Given the description of an element on the screen output the (x, y) to click on. 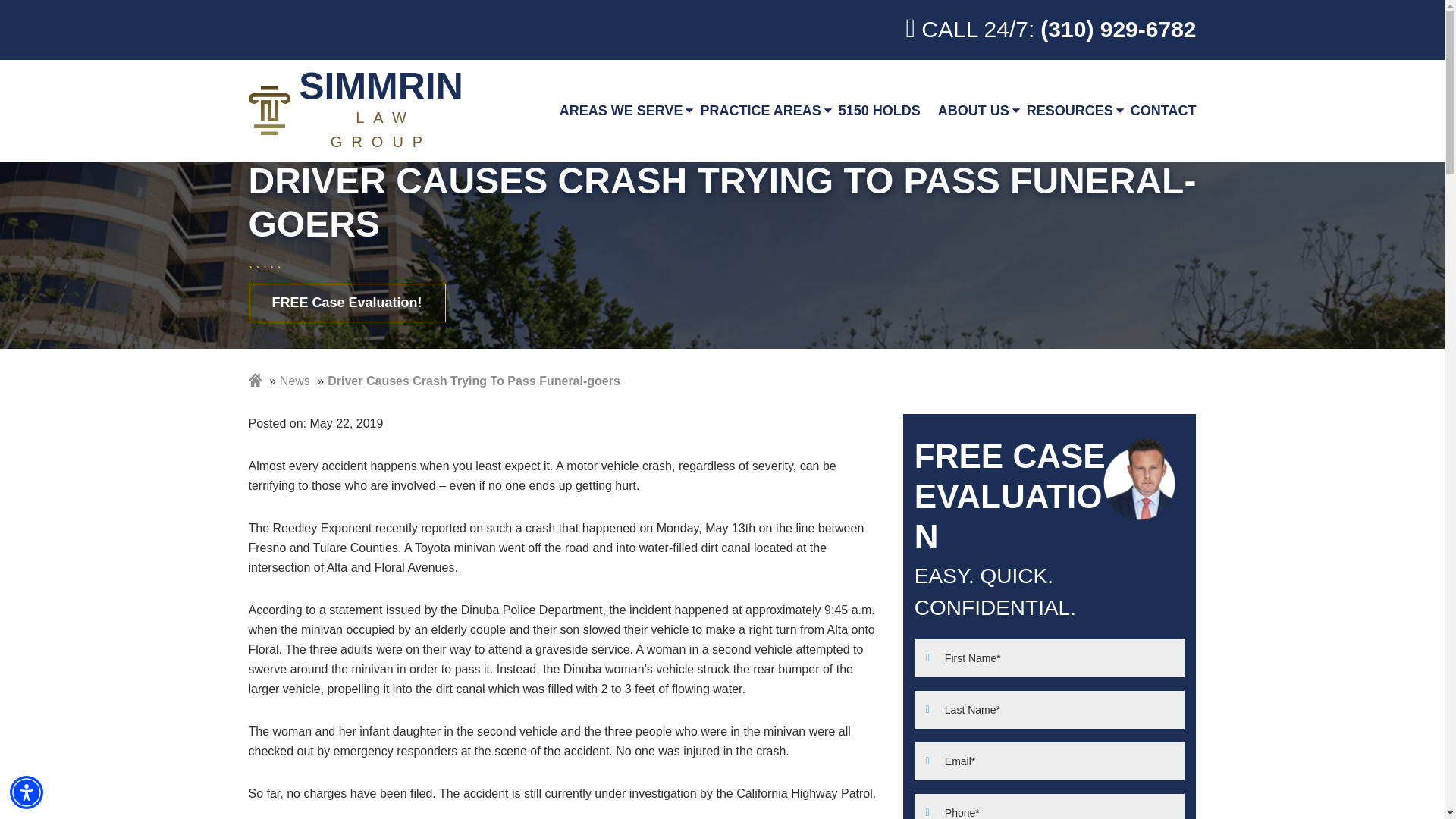
Mike (1138, 478)
phone (1050, 29)
Simmrin Law (358, 110)
Accessibility Menu (358, 110)
AREAS WE SERVE (26, 792)
